Given the description of an element on the screen output the (x, y) to click on. 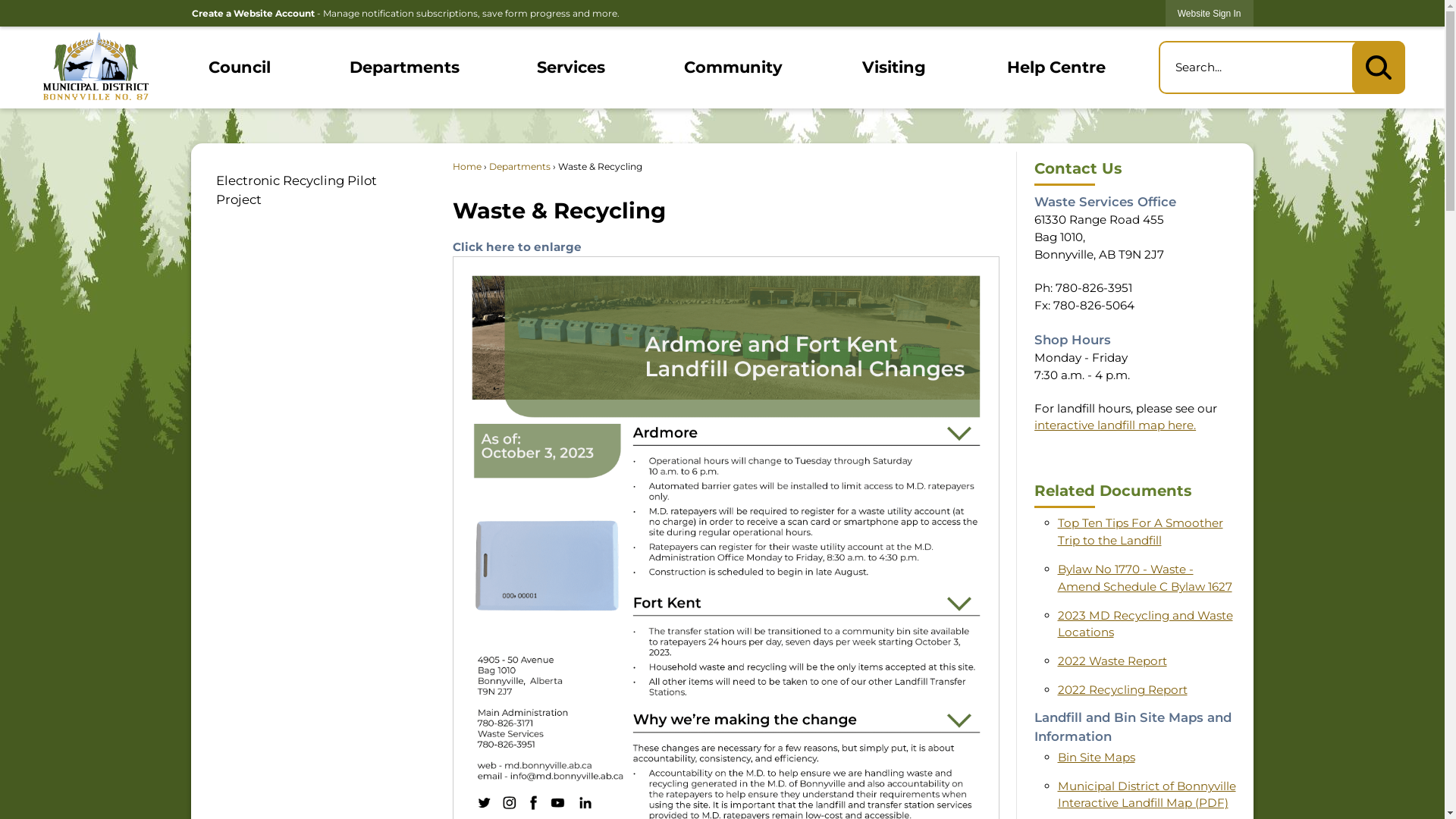
Bin Site Maps Element type: text (1096, 756)
Create a Website Account Element type: text (252, 12)
Home Element type: text (466, 166)
Skip to Main Content Element type: text (6, 6)
2022 Recycling Report Element type: text (1122, 689)
Search... Element type: hover (1281, 67)
Bylaw No 1770 - Waste - Amend Schedule C Bylaw 1627 Element type: text (1144, 577)
Community Element type: text (733, 66)
Services Element type: text (570, 66)
Departments Element type: text (404, 66)
Departments Element type: text (519, 166)
Top Ten Tips For A Smoother Trip to the Landfill Element type: text (1140, 531)
Visiting Element type: text (894, 66)
2023 MD Recycling and Waste Locations Element type: text (1145, 624)
Council Element type: text (239, 66)
interactive landfill map here. Element type: text (1114, 424)
2022 Waste Report Element type: text (1112, 660)
Electronic Recycling Pilot Project Element type: text (313, 189)
Website Sign In Element type: text (1209, 13)
Help Centre Element type: text (1056, 66)
